Given the description of an element on the screen output the (x, y) to click on. 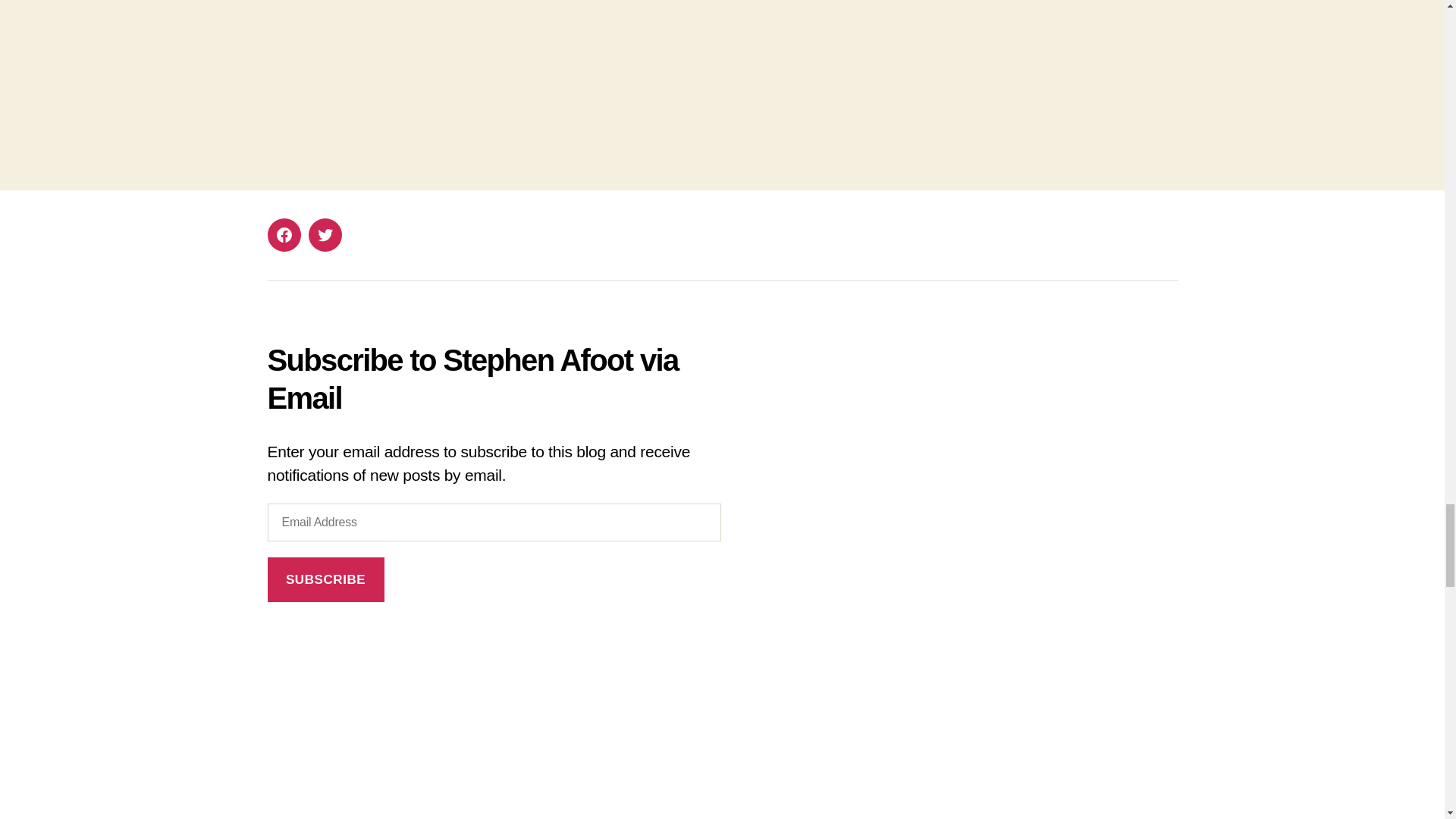
SUBSCRIBE (325, 579)
Facebook (282, 234)
Twitter (323, 234)
Comment Form (721, 64)
